Given the description of an element on the screen output the (x, y) to click on. 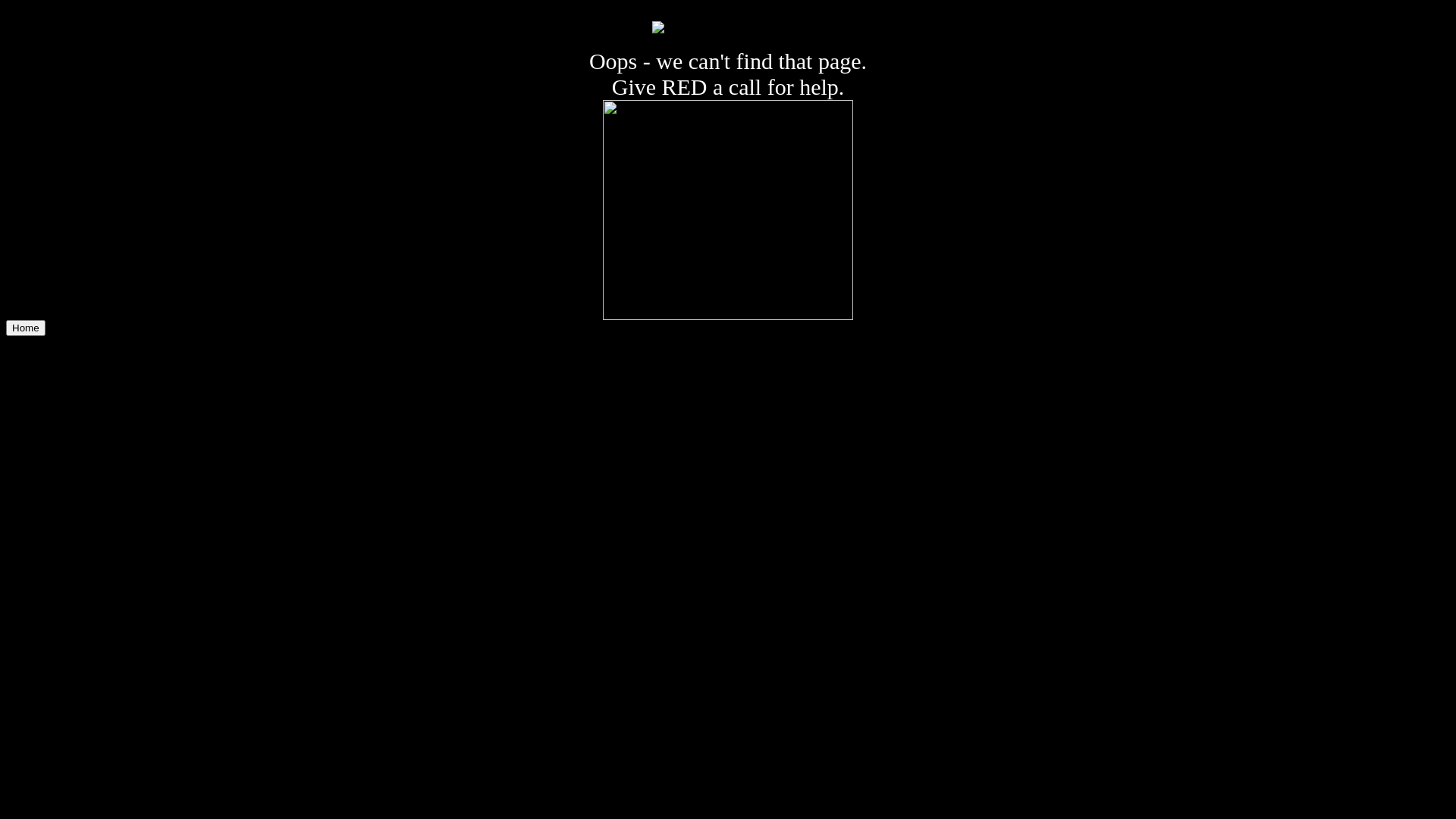
Home Element type: text (25, 327)
